Given the description of an element on the screen output the (x, y) to click on. 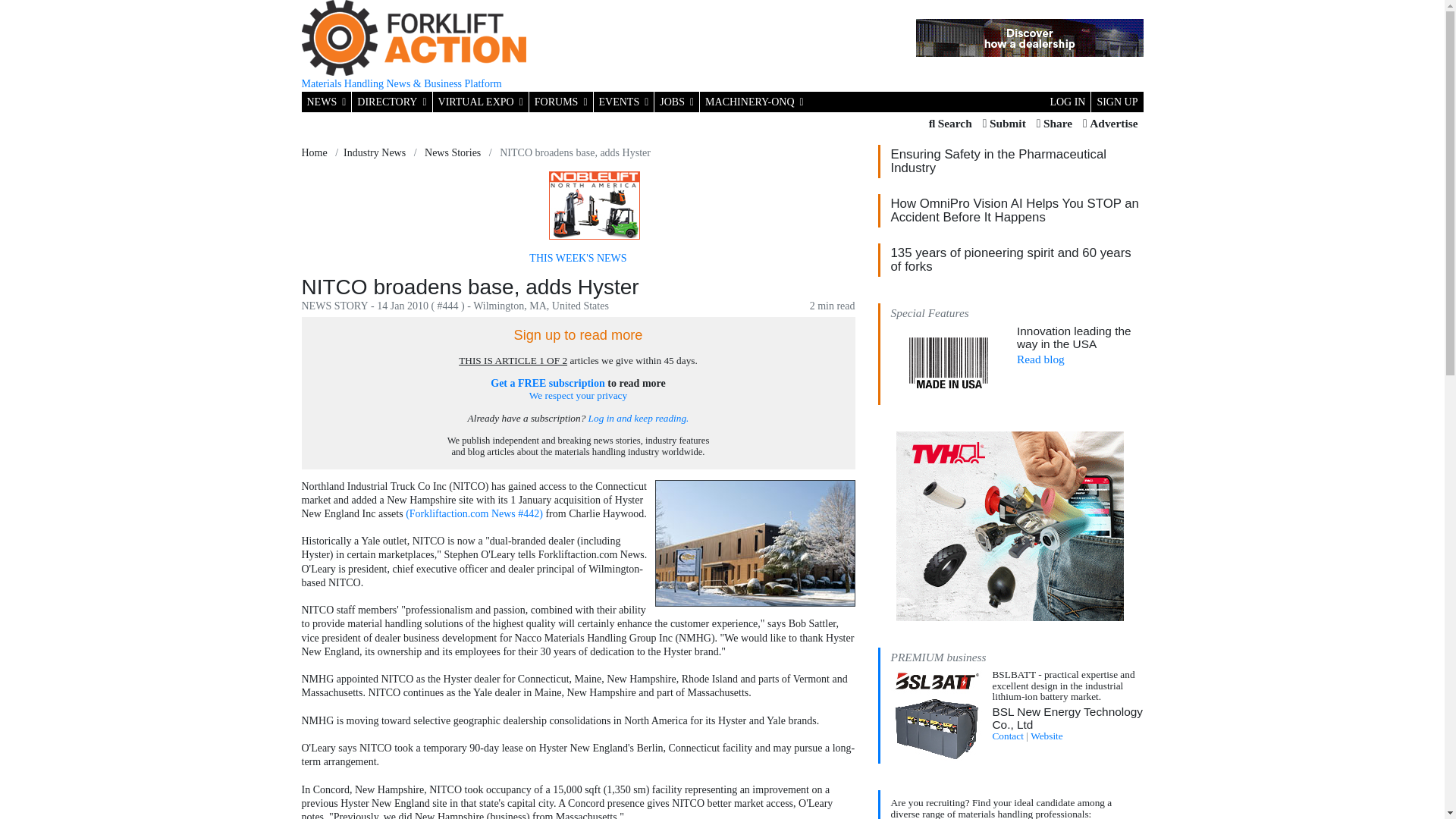
Share this page (1053, 124)
VIRTUAL EXPO (480, 101)
DIRECTORY (391, 101)
FORUMS (560, 101)
NEWS (326, 101)
Submit your content (1003, 124)
